Given the description of an element on the screen output the (x, y) to click on. 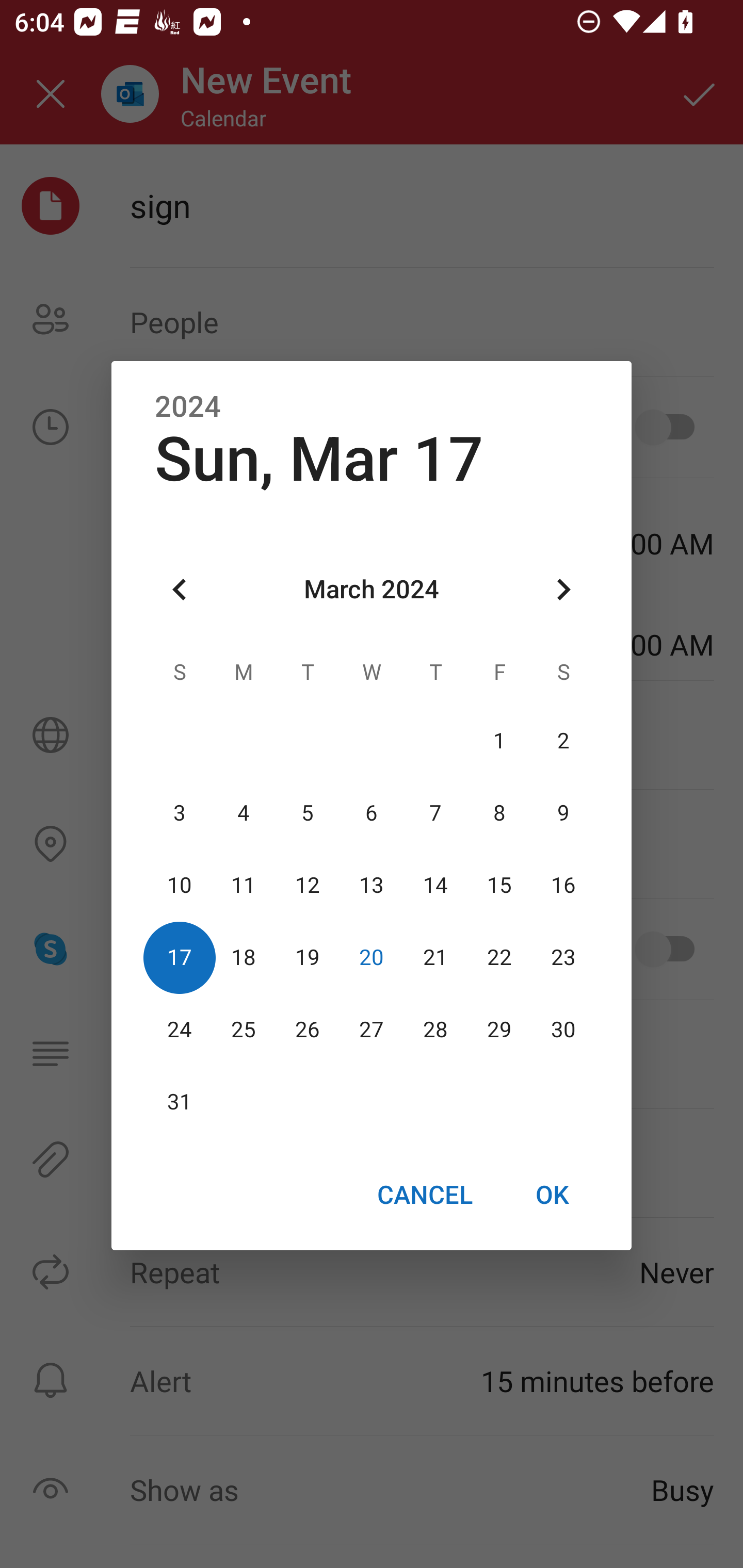
2024 (187, 406)
Sun, Mar 17 (318, 459)
Previous month (178, 589)
Next month (563, 589)
1 01 March 2024 (499, 741)
2 02 March 2024 (563, 741)
3 03 March 2024 (179, 813)
4 04 March 2024 (243, 813)
5 05 March 2024 (307, 813)
6 06 March 2024 (371, 813)
7 07 March 2024 (435, 813)
8 08 March 2024 (499, 813)
9 09 March 2024 (563, 813)
10 10 March 2024 (179, 885)
11 11 March 2024 (243, 885)
12 12 March 2024 (307, 885)
13 13 March 2024 (371, 885)
14 14 March 2024 (435, 885)
15 15 March 2024 (499, 885)
16 16 March 2024 (563, 885)
17 17 March 2024 (179, 957)
18 18 March 2024 (243, 957)
19 19 March 2024 (307, 957)
20 20 March 2024 (371, 957)
21 21 March 2024 (435, 957)
22 22 March 2024 (499, 957)
23 23 March 2024 (563, 957)
24 24 March 2024 (179, 1030)
25 25 March 2024 (243, 1030)
26 26 March 2024 (307, 1030)
27 27 March 2024 (371, 1030)
28 28 March 2024 (435, 1030)
29 29 March 2024 (499, 1030)
30 30 March 2024 (563, 1030)
31 31 March 2024 (179, 1102)
CANCEL (424, 1194)
OK (552, 1194)
